Given the description of an element on the screen output the (x, y) to click on. 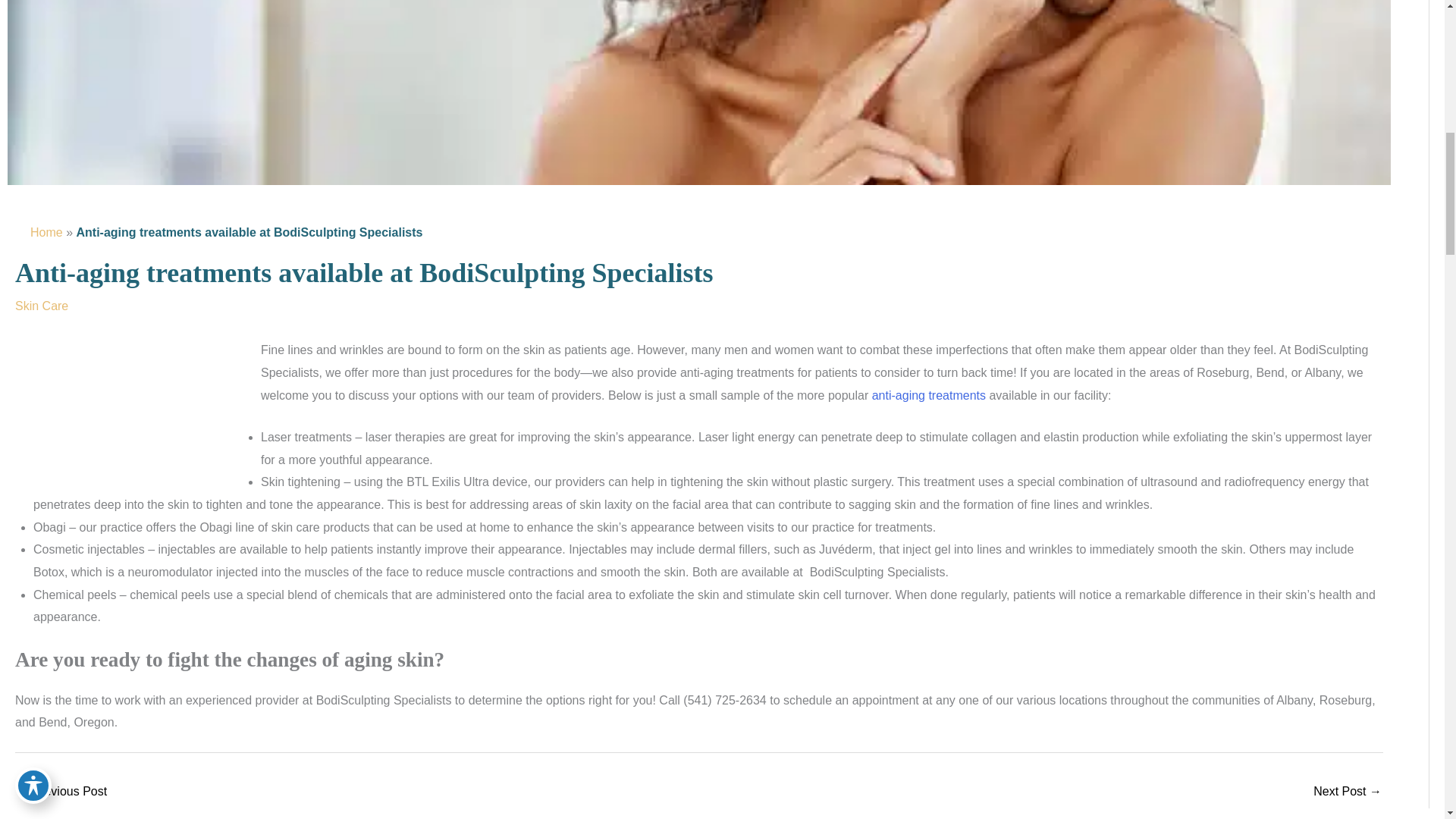
istock 1145946924 (128, 414)
Am I a candidate for Coolsculpting? (61, 792)
BTL Exilis Ultra for nonsurgical skin tightening (1347, 792)
